Given the description of an element on the screen output the (x, y) to click on. 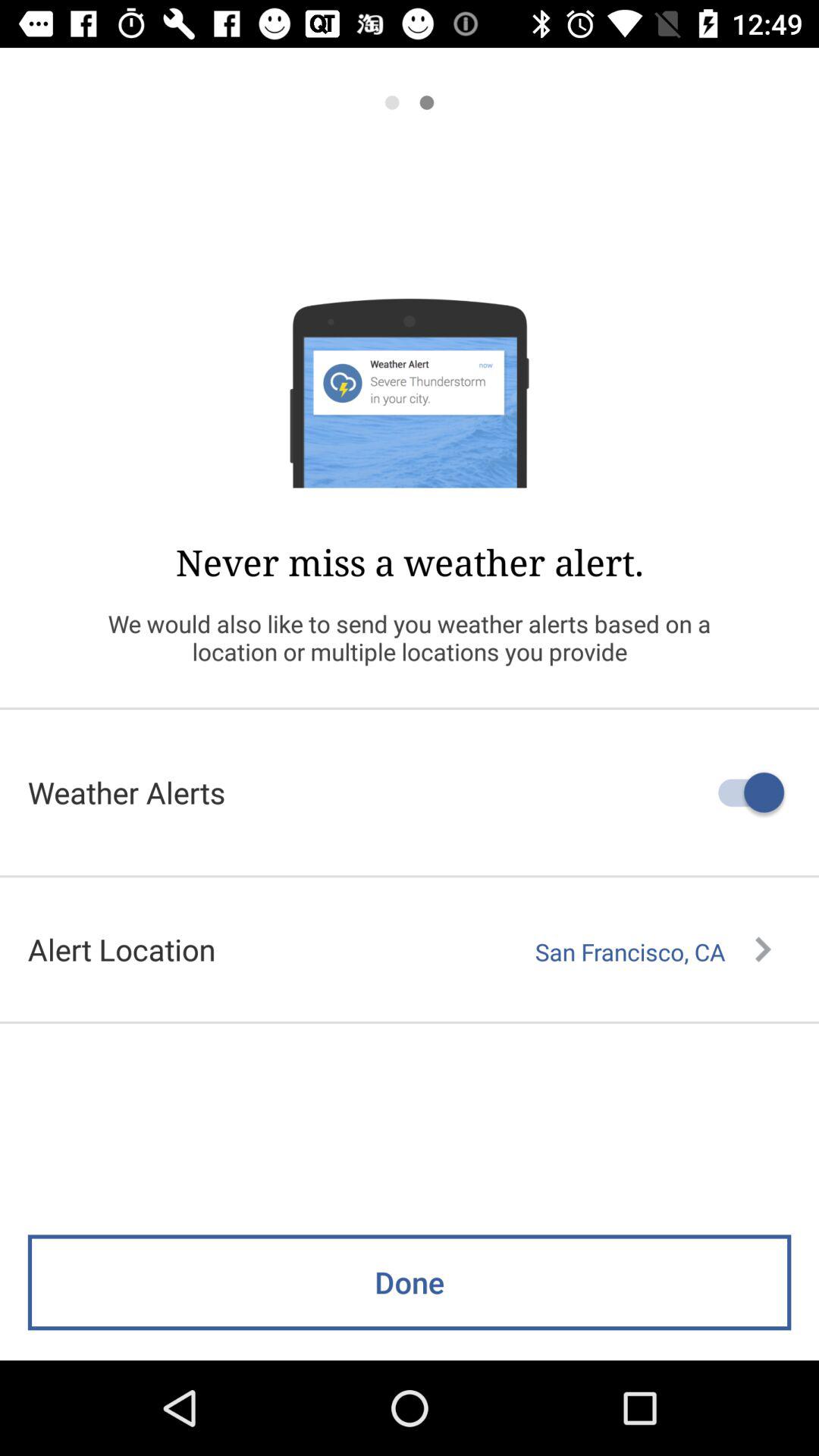
tap san francisco, ca (653, 951)
